Given the description of an element on the screen output the (x, y) to click on. 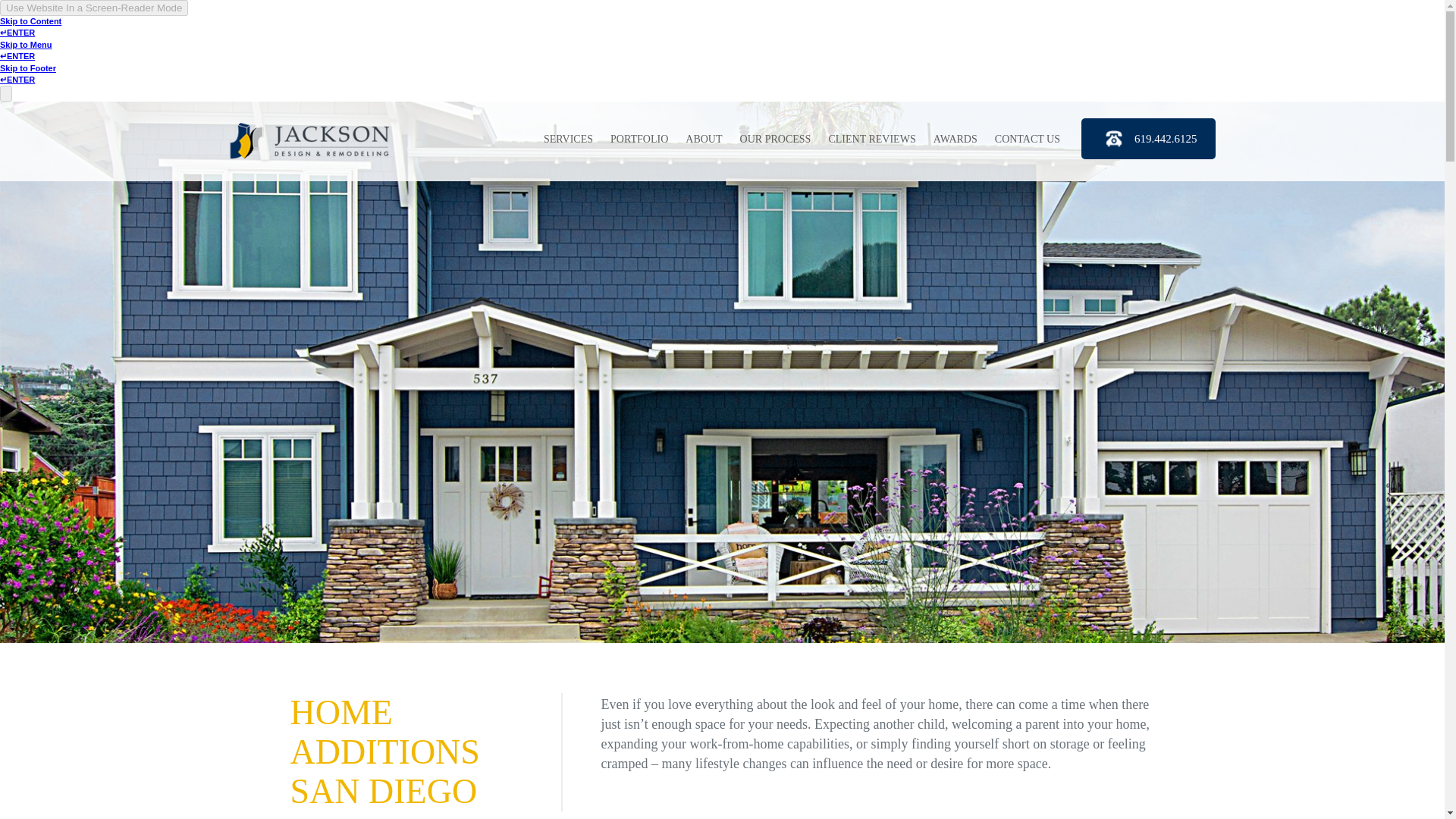
SERVICES (567, 138)
PORTFOLIO (639, 138)
ABOUT (703, 138)
